Given the description of an element on the screen output the (x, y) to click on. 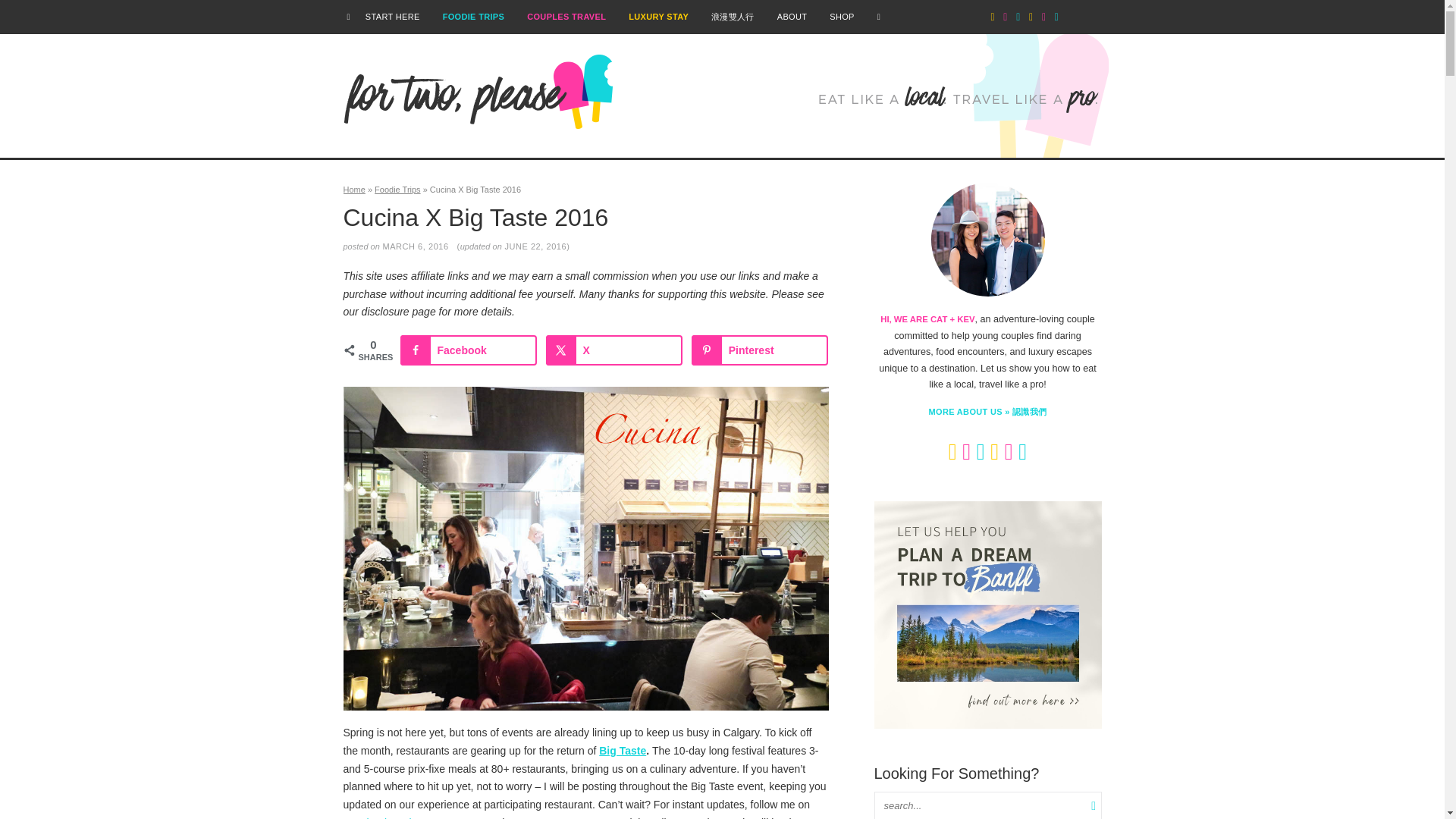
Share on X (614, 349)
Share on Facebook (468, 349)
Save to Pinterest (759, 349)
